Given the description of an element on the screen output the (x, y) to click on. 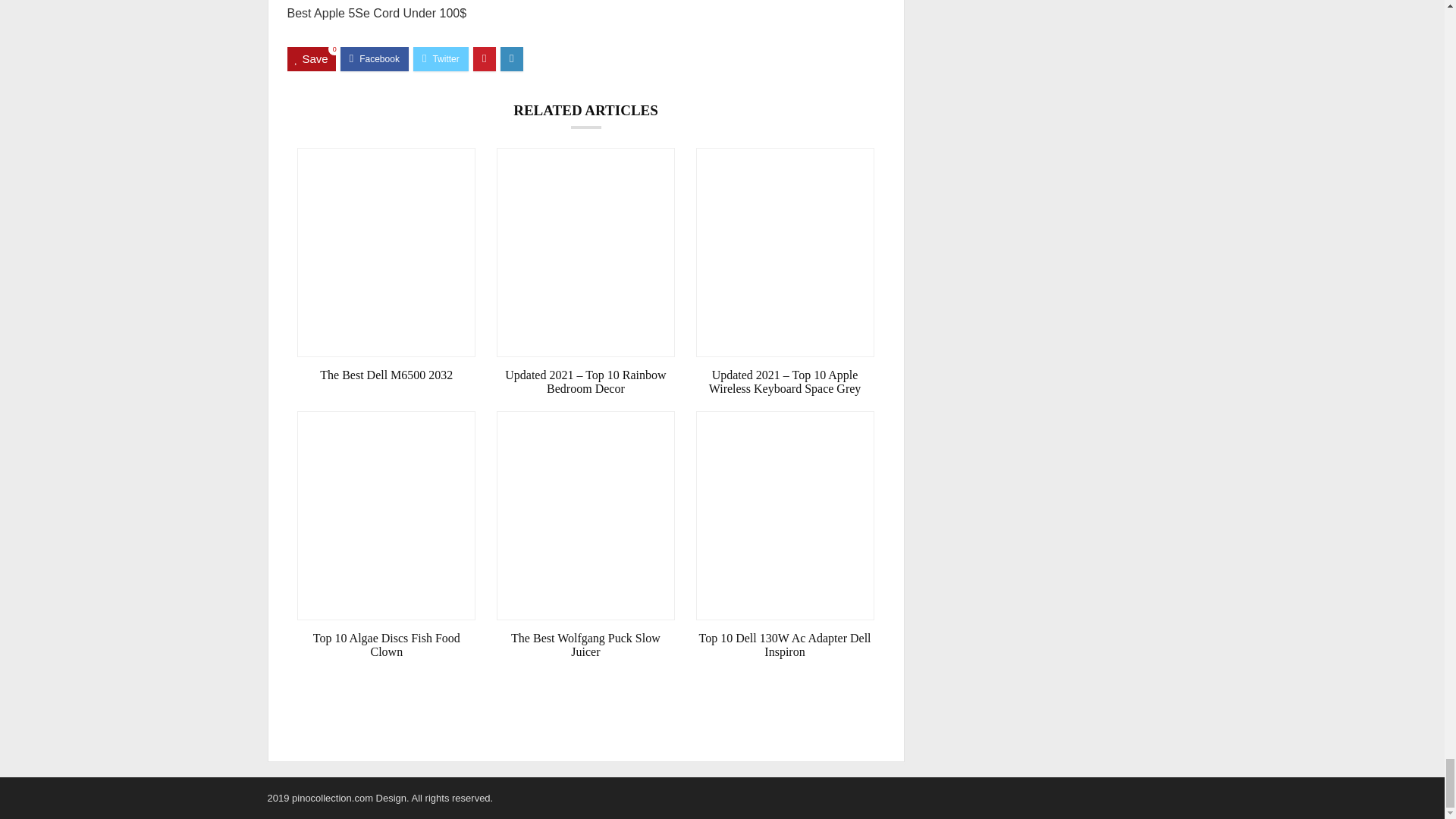
The Best Dell M6500 2032 (386, 375)
The Best Wolfgang Puck Slow Juicer (585, 645)
Top 10 Algae Discs Fish Food Clown (386, 645)
Top 10 Dell 130W Ac Adapter Dell Inspiron (785, 645)
